Given the description of an element on the screen output the (x, y) to click on. 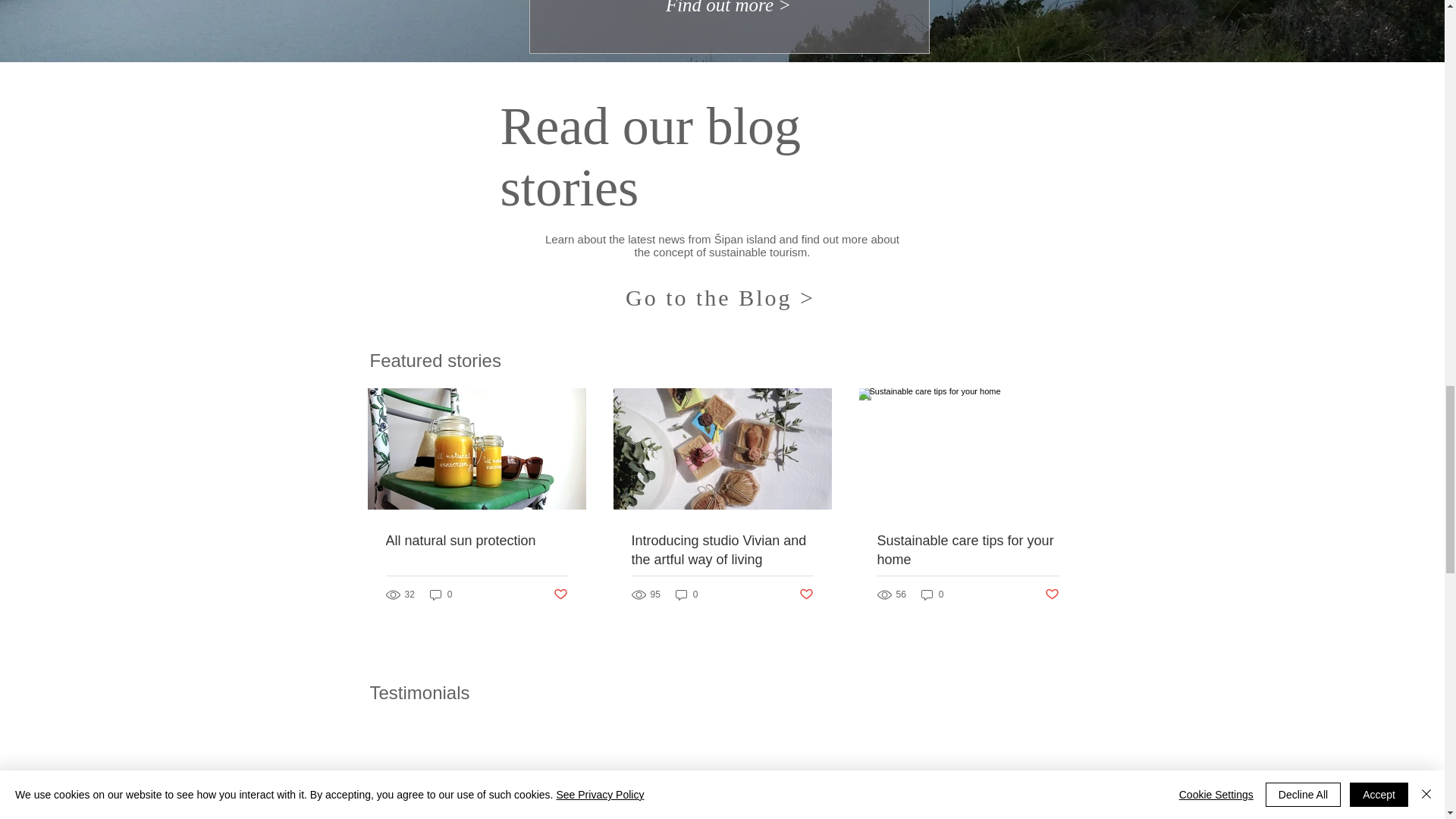
0 (932, 594)
0 (687, 594)
Sustainable care tips for your home (967, 550)
Introducing studio Vivian and the artful way of living (721, 550)
All natural sun protection (476, 540)
Post not marked as liked (806, 594)
Post not marked as liked (1052, 594)
Post not marked as liked (560, 594)
0 (441, 594)
